Given the description of an element on the screen output the (x, y) to click on. 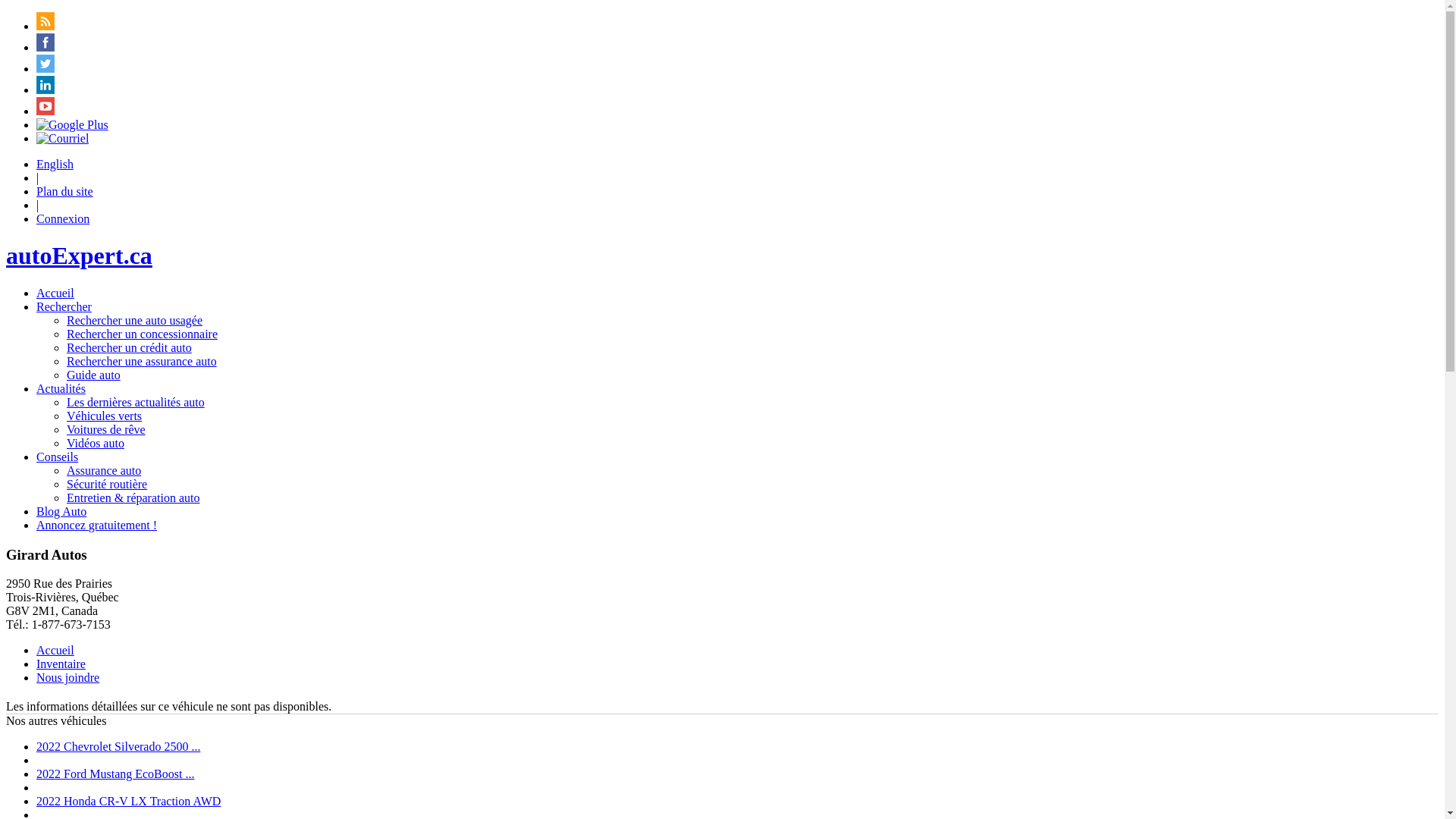
Annoncez gratuitement ! Element type: text (96, 524)
Suivez autoExpert.ca sur Youtube Element type: hover (45, 110)
Guide auto Element type: text (93, 374)
Accueil Element type: text (55, 649)
Suivez autoExpert.ca sur Google Plus Element type: hover (72, 124)
Suivez autoExpert.ca sur Facebook Element type: hover (45, 46)
Suivez Publications Le Guide Inc. sur LinkedIn Element type: hover (45, 89)
Assurance auto Element type: text (103, 470)
Accueil Element type: text (55, 292)
Connexion Element type: text (62, 218)
2022 Honda CR-V LX Traction AWD Element type: text (128, 800)
Rechercher Element type: text (63, 306)
Nous joindre Element type: text (67, 677)
2022 Chevrolet Silverado 2500 ... Element type: text (118, 746)
Rechercher une assurance auto Element type: text (141, 360)
2022 Ford Mustang EcoBoost ... Element type: text (115, 773)
Blog Auto Element type: text (61, 511)
English Element type: text (54, 163)
Conseils Element type: text (57, 456)
Rechercher un concessionnaire Element type: text (141, 333)
Plan du site Element type: text (64, 191)
Joindre autoExpert.ca Element type: hover (62, 137)
Suivez autoExpert.ca sur Twitter Element type: hover (45, 68)
Inventaire Element type: text (60, 663)
autoExpert.ca Element type: text (79, 255)
